Given the description of an element on the screen output the (x, y) to click on. 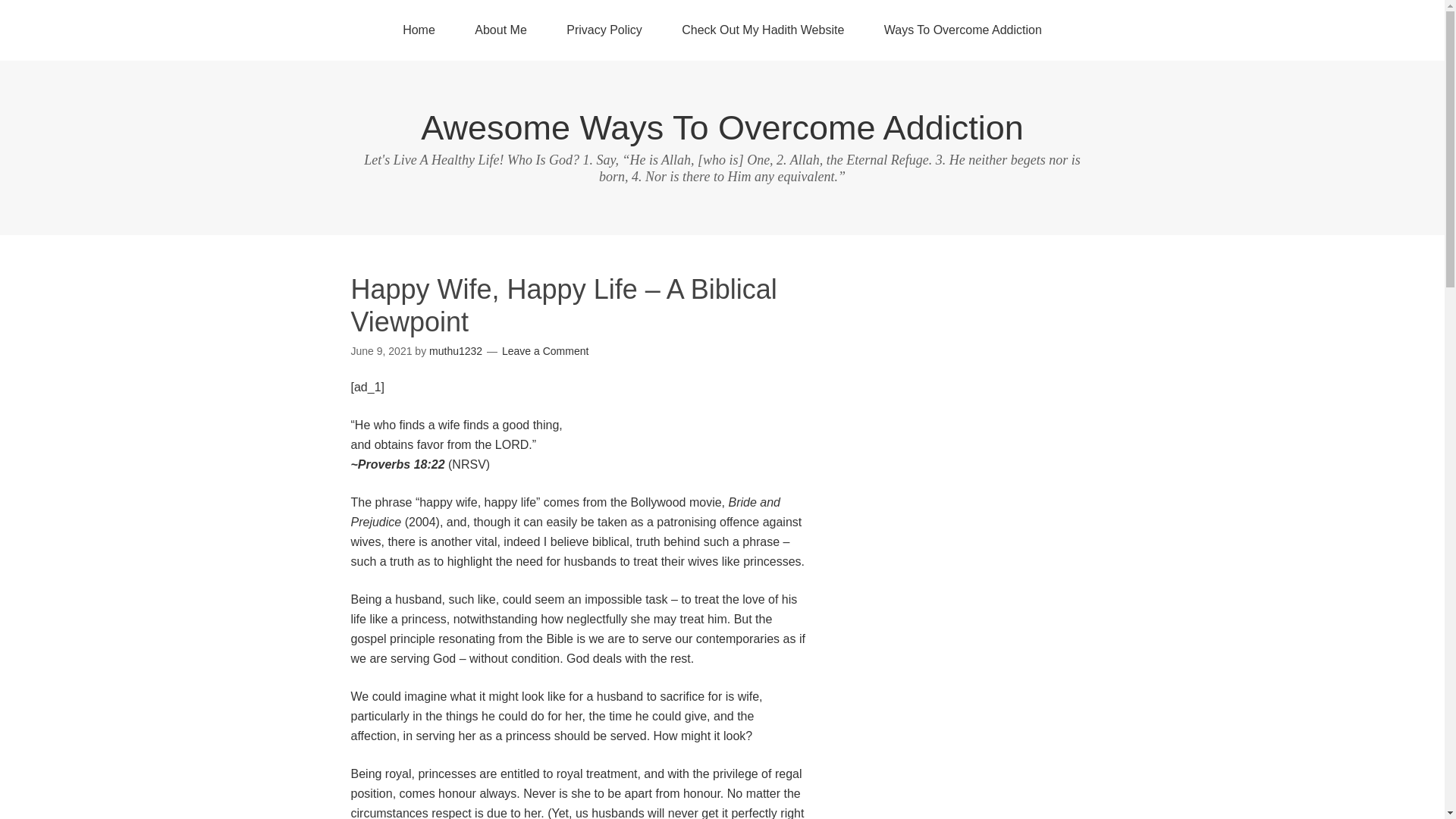
Check Out My Hadith Website (762, 30)
muthu1232 (455, 350)
Awesome Ways To Overcome Addiction (721, 127)
About Me (500, 30)
Home (418, 30)
Ways To Overcome Addiction (962, 30)
Privacy Policy (604, 30)
Posts by muthu1232 (455, 350)
Leave a Comment (545, 350)
Wednesday, June 9, 2021, 6:59 am (381, 350)
Awesome Ways To Overcome Addiction (721, 127)
